Given the description of an element on the screen output the (x, y) to click on. 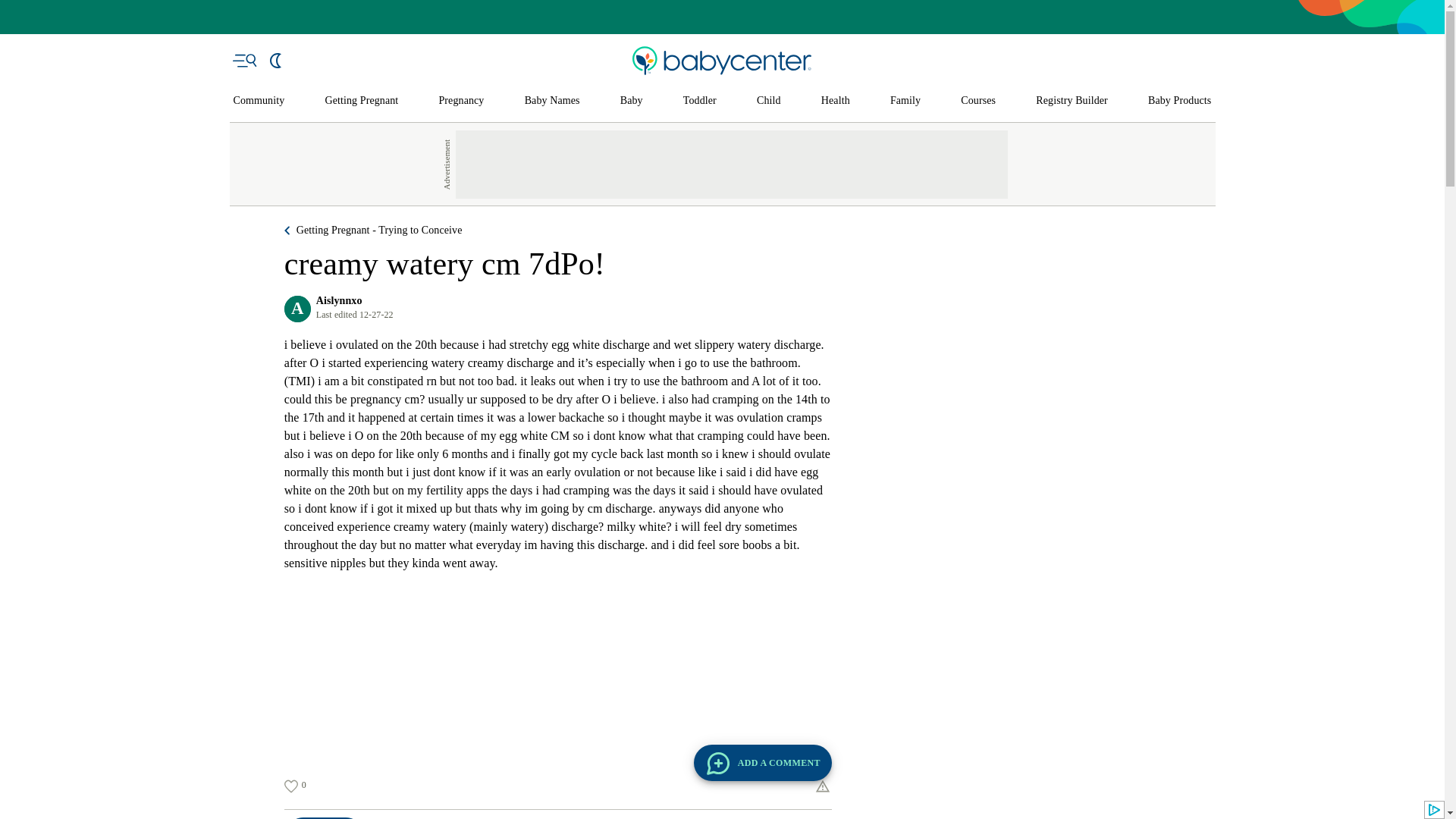
Pregnancy (460, 101)
Courses (977, 101)
Baby Names (551, 101)
Community (258, 101)
Family (904, 101)
Baby Products (1179, 101)
Baby (631, 101)
Child (768, 101)
Registry Builder (1071, 101)
Toddler (699, 101)
